Given the description of an element on the screen output the (x, y) to click on. 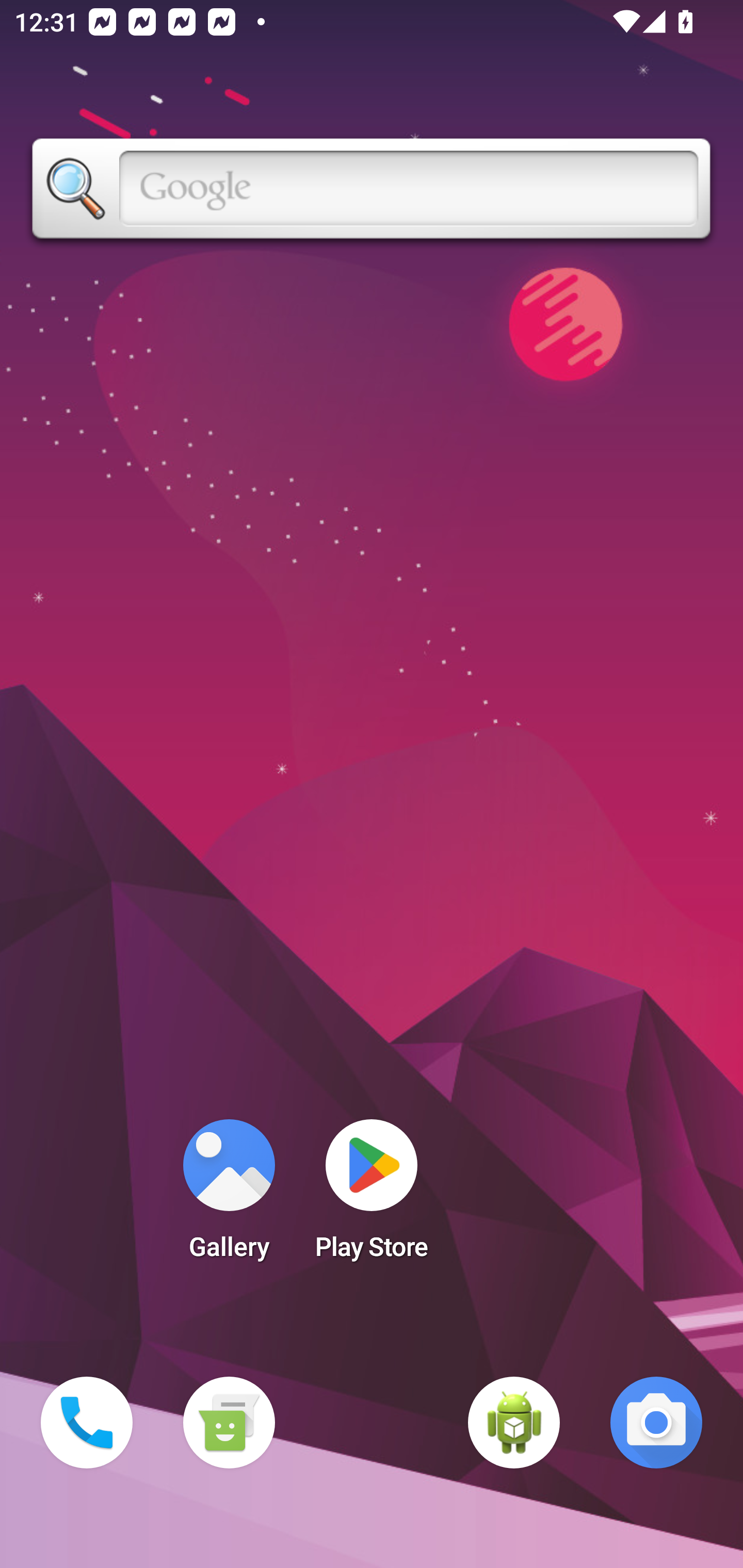
Gallery (228, 1195)
Play Store (371, 1195)
Phone (86, 1422)
Messaging (228, 1422)
WebView Browser Tester (513, 1422)
Camera (656, 1422)
